Given the description of an element on the screen output the (x, y) to click on. 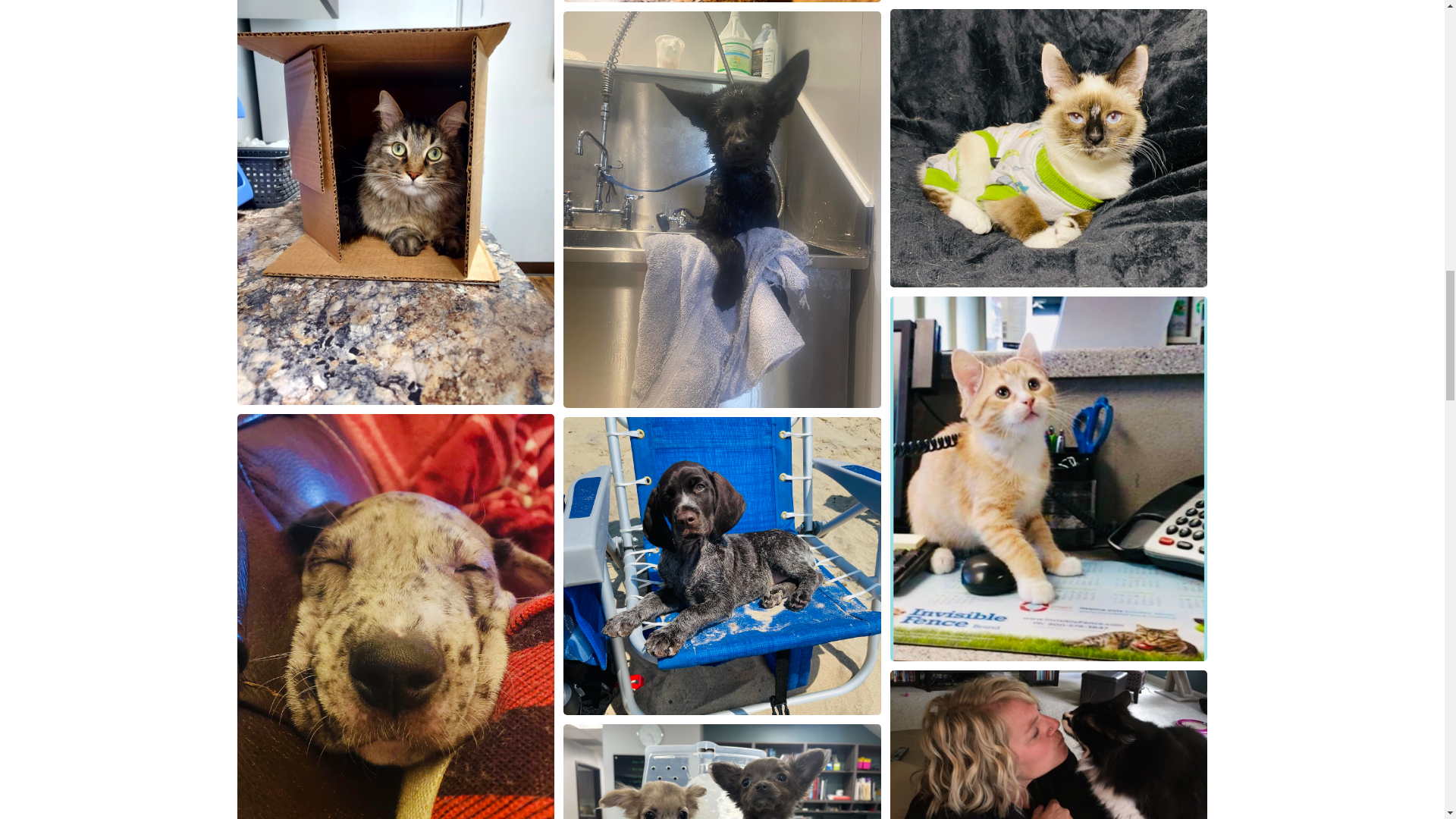
Ralph Box (394, 202)
IMG-5480 (721, 771)
Dr. Carrie Bonemer (1048, 744)
Gus (394, 616)
